Given the description of an element on the screen output the (x, y) to click on. 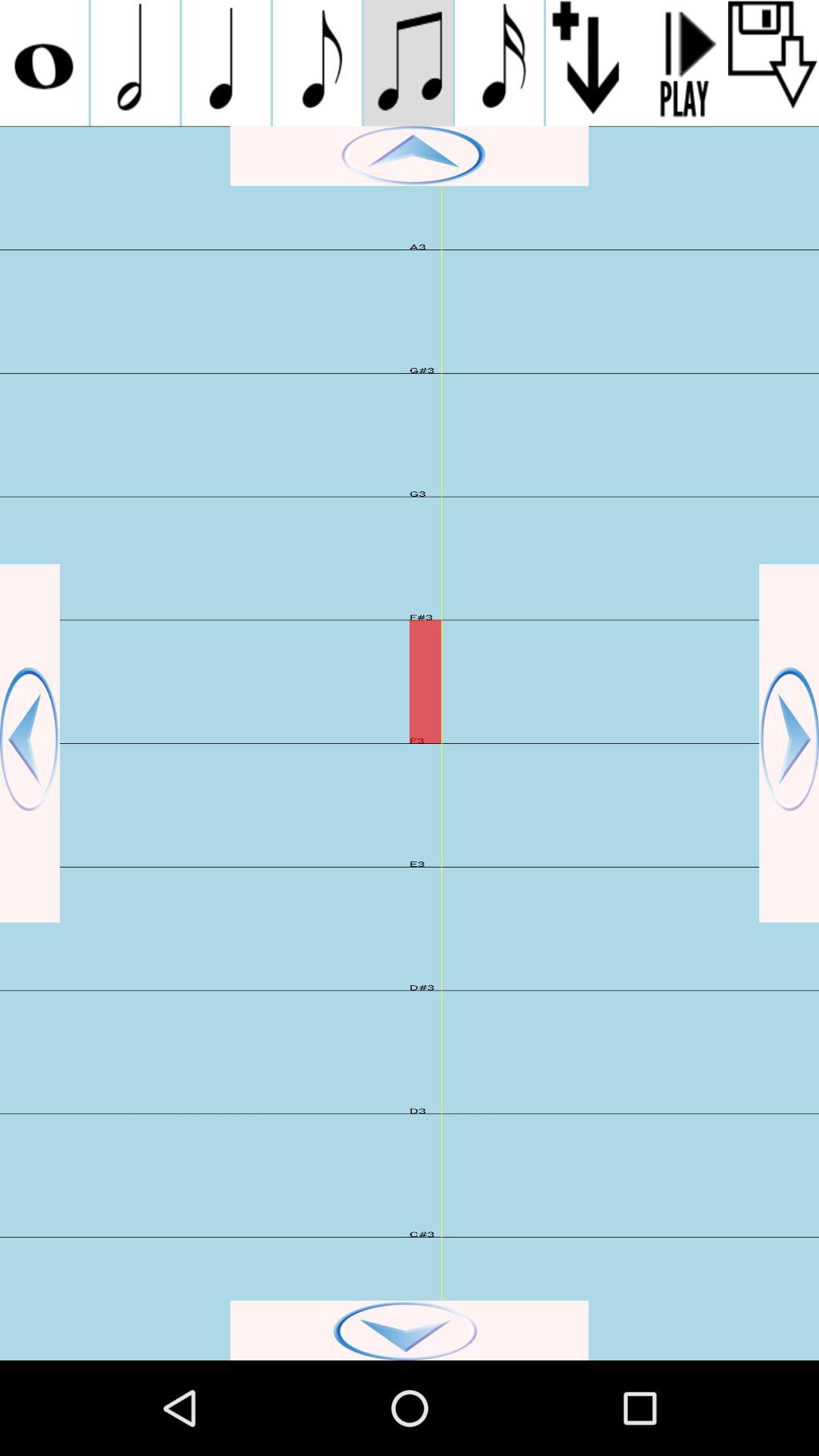
switch music logo (317, 63)
